Given the description of an element on the screen output the (x, y) to click on. 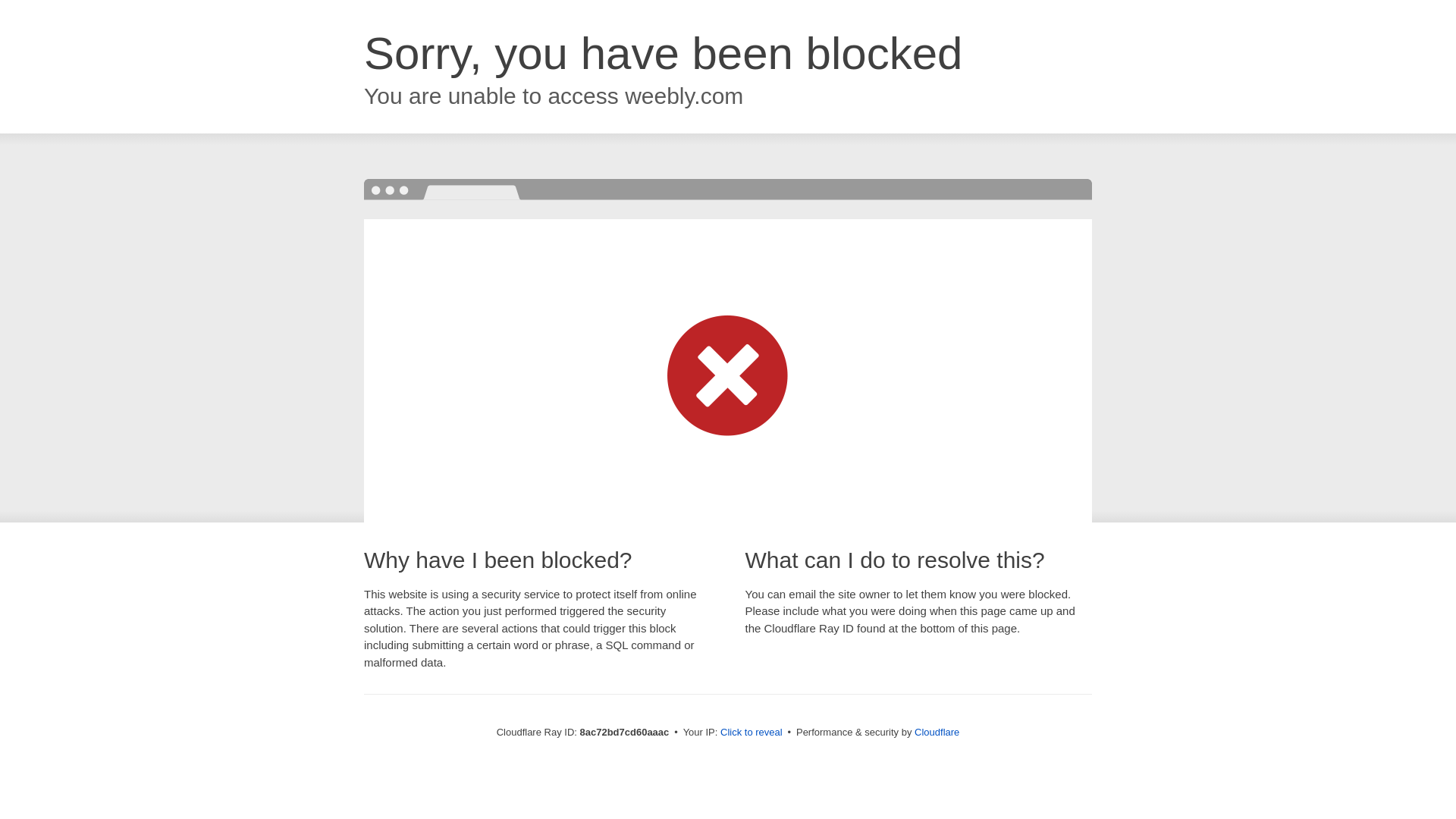
Cloudflare (936, 731)
Click to reveal (751, 732)
